Given the description of an element on the screen output the (x, y) to click on. 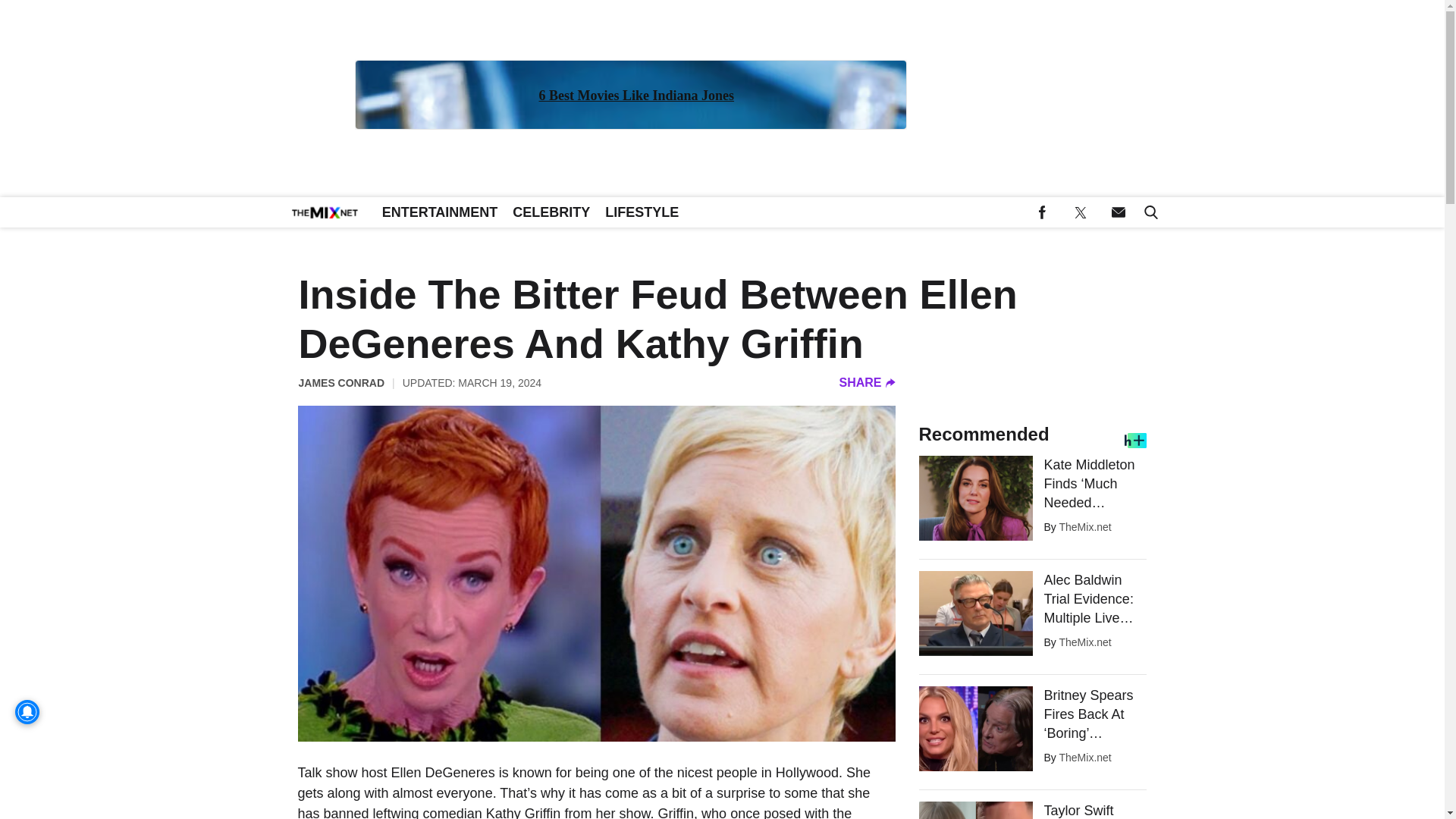
CELEBRITY (550, 212)
Follow us on Twitter (1080, 212)
Send us an email (1118, 212)
ENTERTAINMENT (439, 212)
LIFESTYLE (640, 212)
Posts by James Conrad (341, 382)
JAMES CONRAD (341, 382)
Follow us on Facebook (1042, 212)
TheMix.net (1084, 757)
TheMix.net (1084, 526)
TheMix.net (1084, 642)
